Given the description of an element on the screen output the (x, y) to click on. 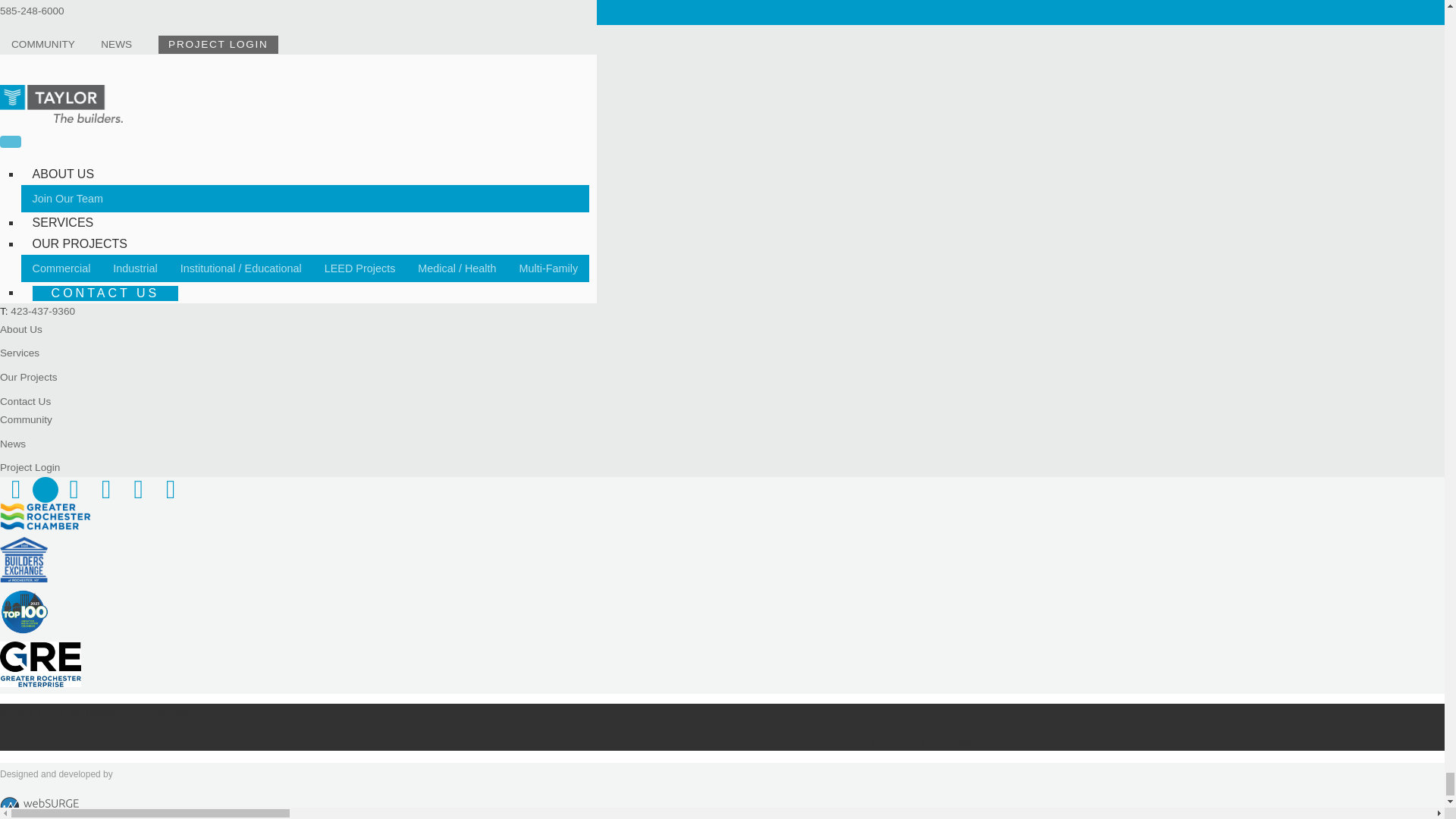
Call Us (42, 310)
Get Directions (60, 110)
Get Directions (56, 244)
Call Us (42, 176)
